Given the description of an element on the screen output the (x, y) to click on. 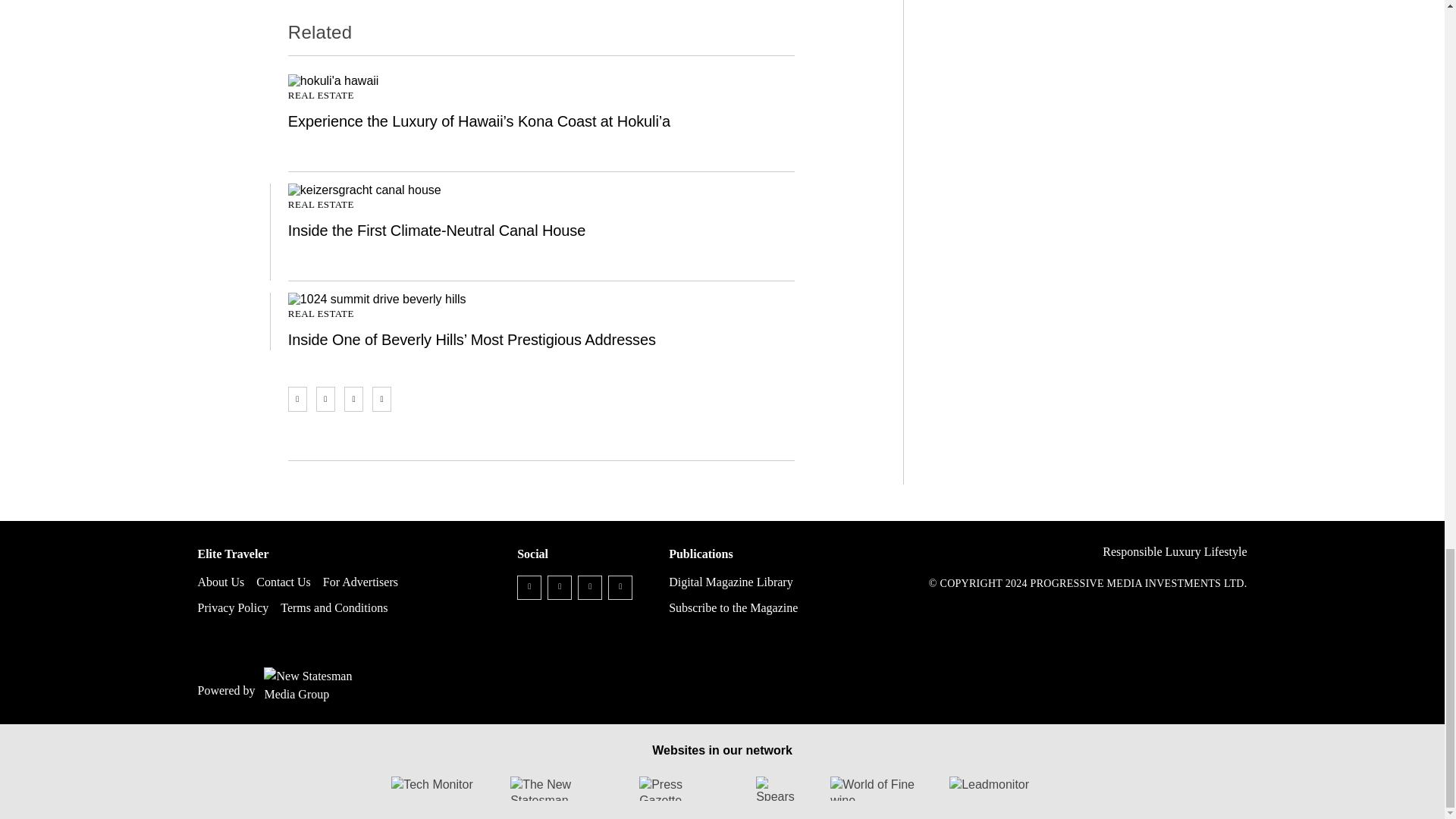
Follow us on Facebook (528, 587)
Follow us on Twitter (559, 587)
Follow us on LinkedIn (590, 587)
